Given the description of an element on the screen output the (x, y) to click on. 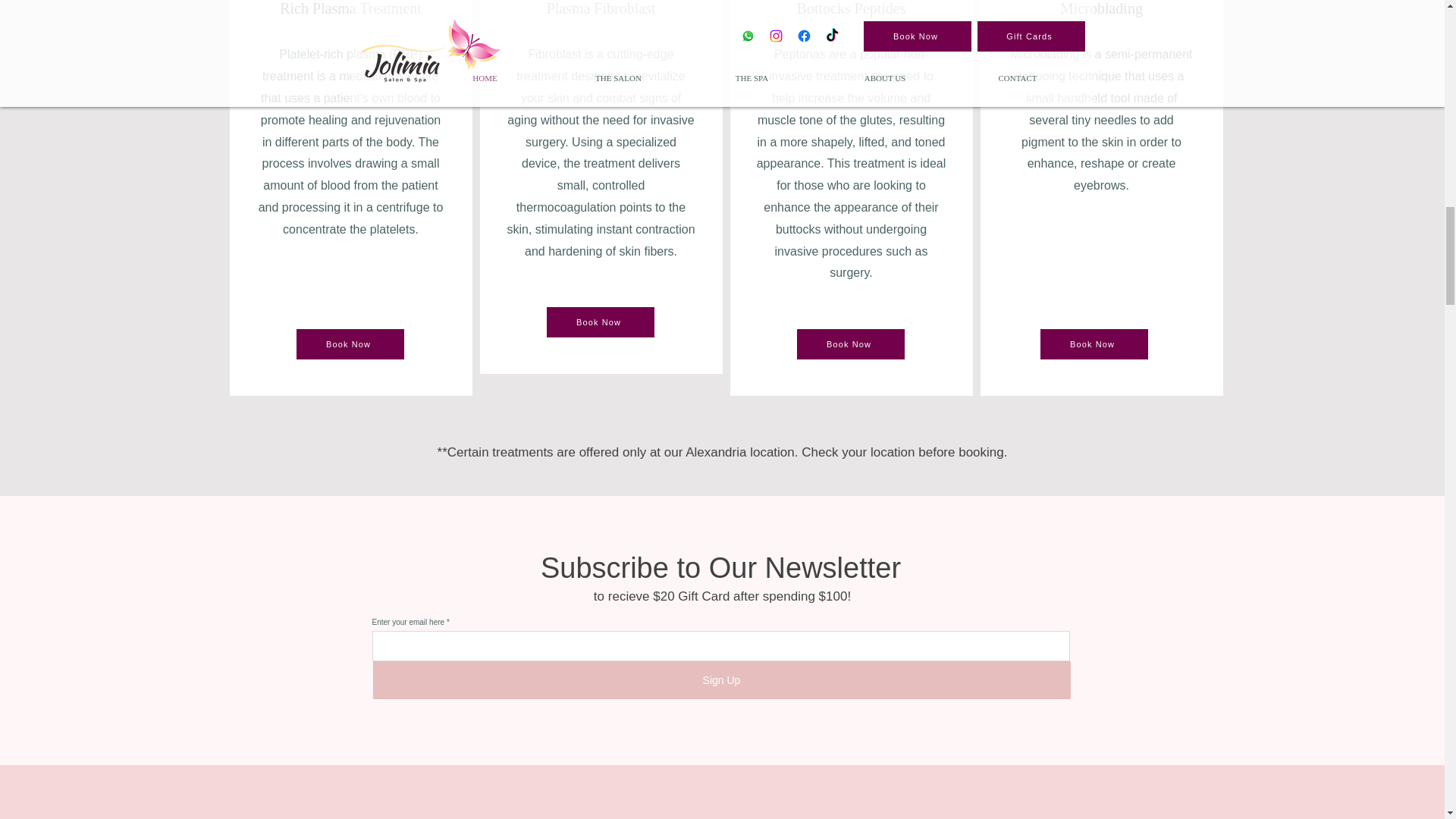
Book Now (850, 344)
Book Now (599, 322)
Book Now (349, 344)
Sign Up (721, 679)
Book Now (1094, 344)
